Given the description of an element on the screen output the (x, y) to click on. 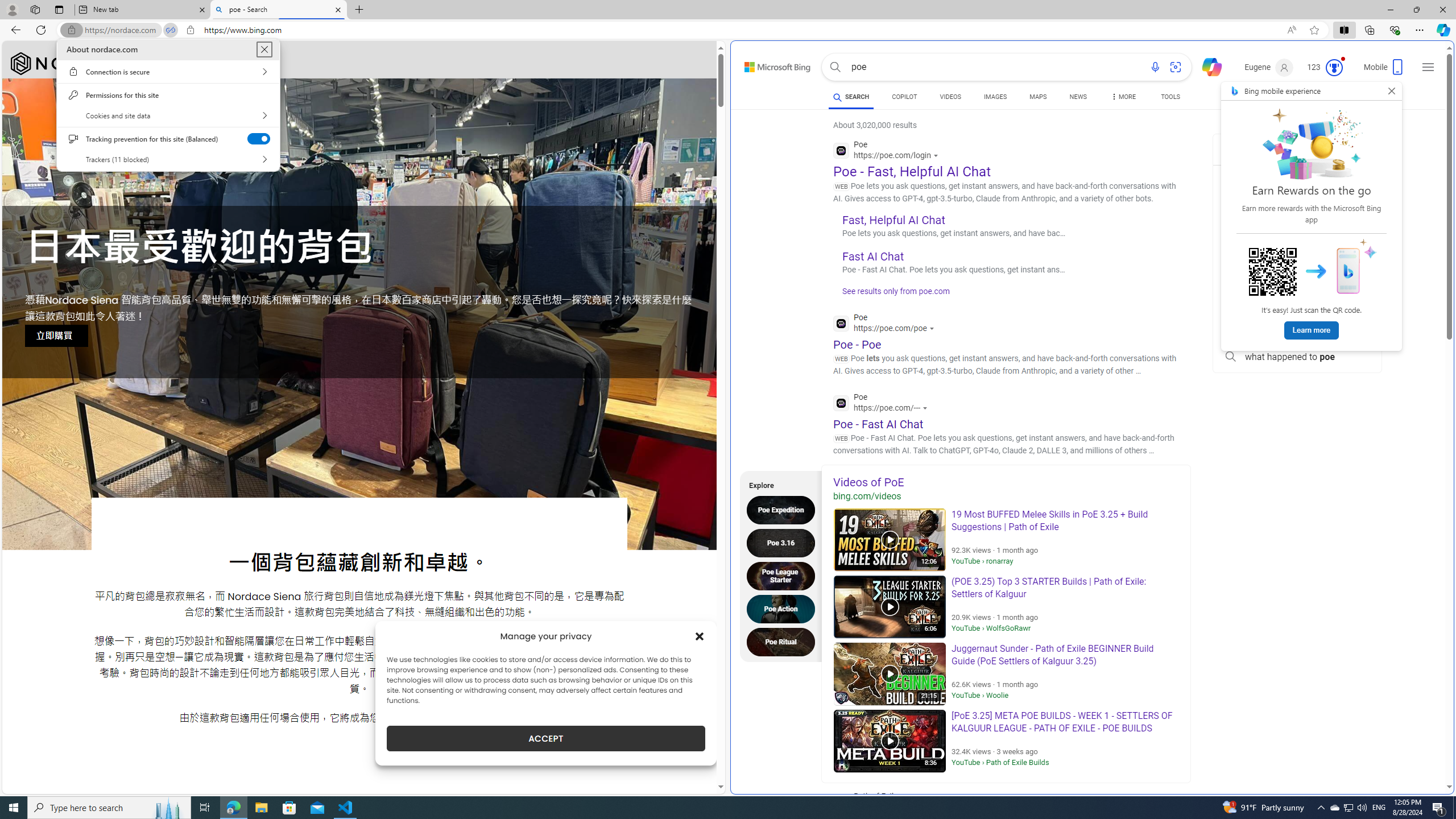
Search button (835, 66)
poe official website (1297, 177)
Microsoft Store (289, 807)
Start (13, 807)
SEARCH (850, 96)
Path of Exile (912, 803)
Eugene (1269, 67)
MAPS (1038, 96)
MORE (1123, 98)
About nordace.com (264, 49)
